Given the description of an element on the screen output the (x, y) to click on. 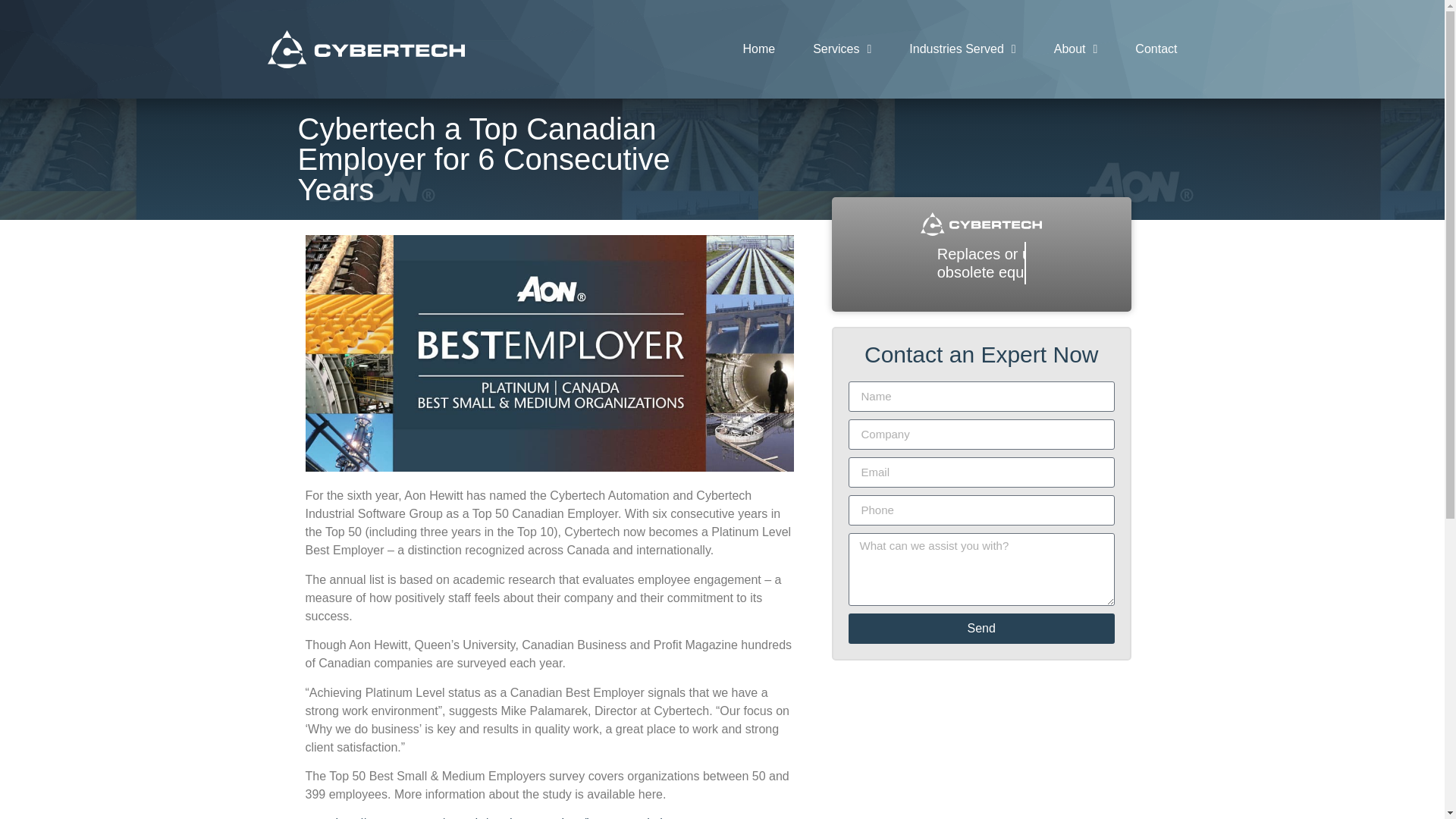
Home (758, 48)
Contact (1155, 48)
About (1075, 48)
Services (841, 48)
Industries Served (961, 48)
